Given the description of an element on the screen output the (x, y) to click on. 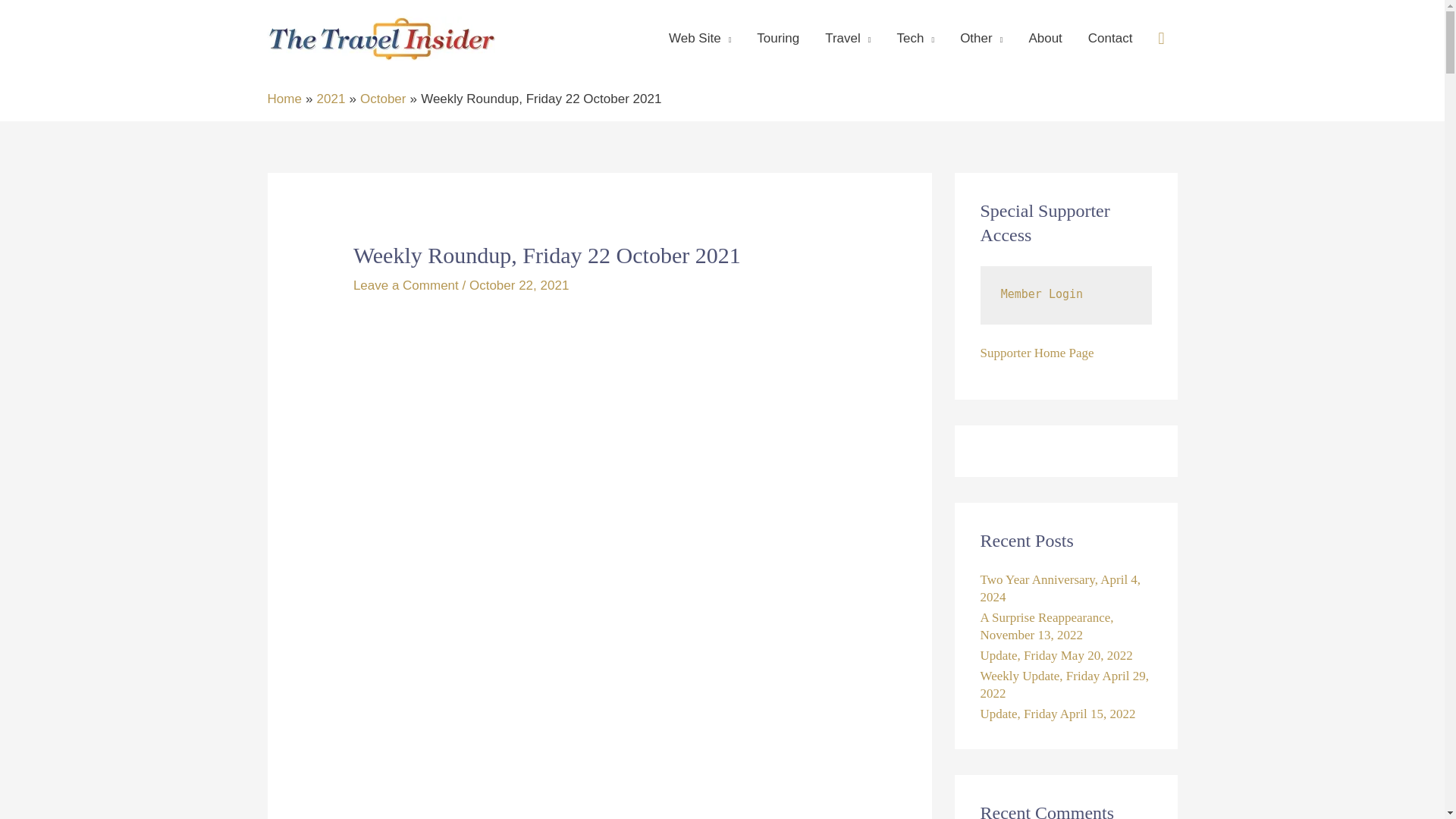
Travel (847, 38)
Touring (778, 38)
Web Site (700, 38)
